Given the description of an element on the screen output the (x, y) to click on. 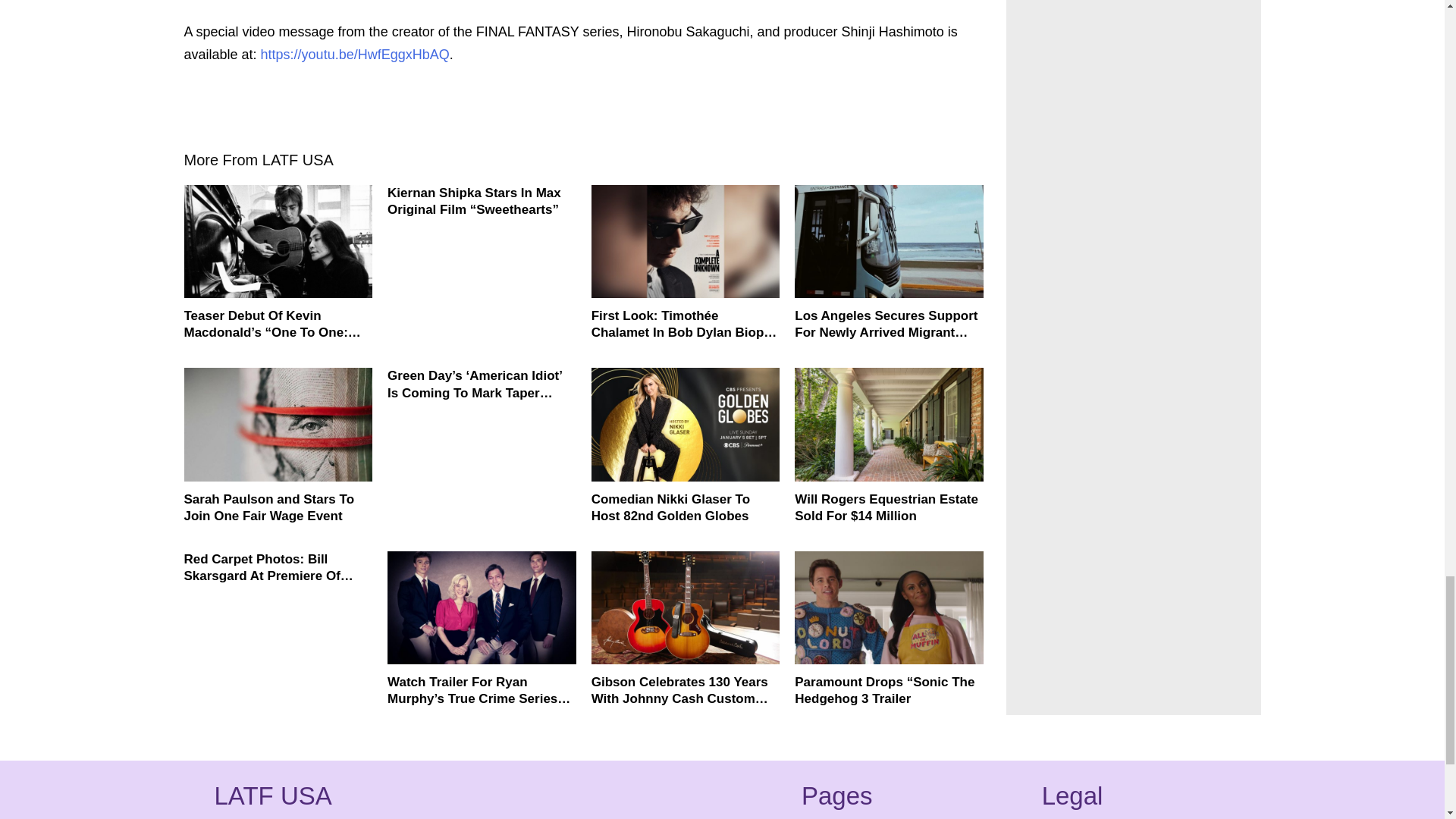
Nikki-Glaser host golden globes (685, 423)
fair wage west hollywood, fair one wage (277, 423)
sonic the hedgehog 3 trailer (889, 607)
will rogers home pacific palisades (889, 423)
image (277, 241)
immigrants los angeles karen bass (889, 241)
